Given the description of an element on the screen output the (x, y) to click on. 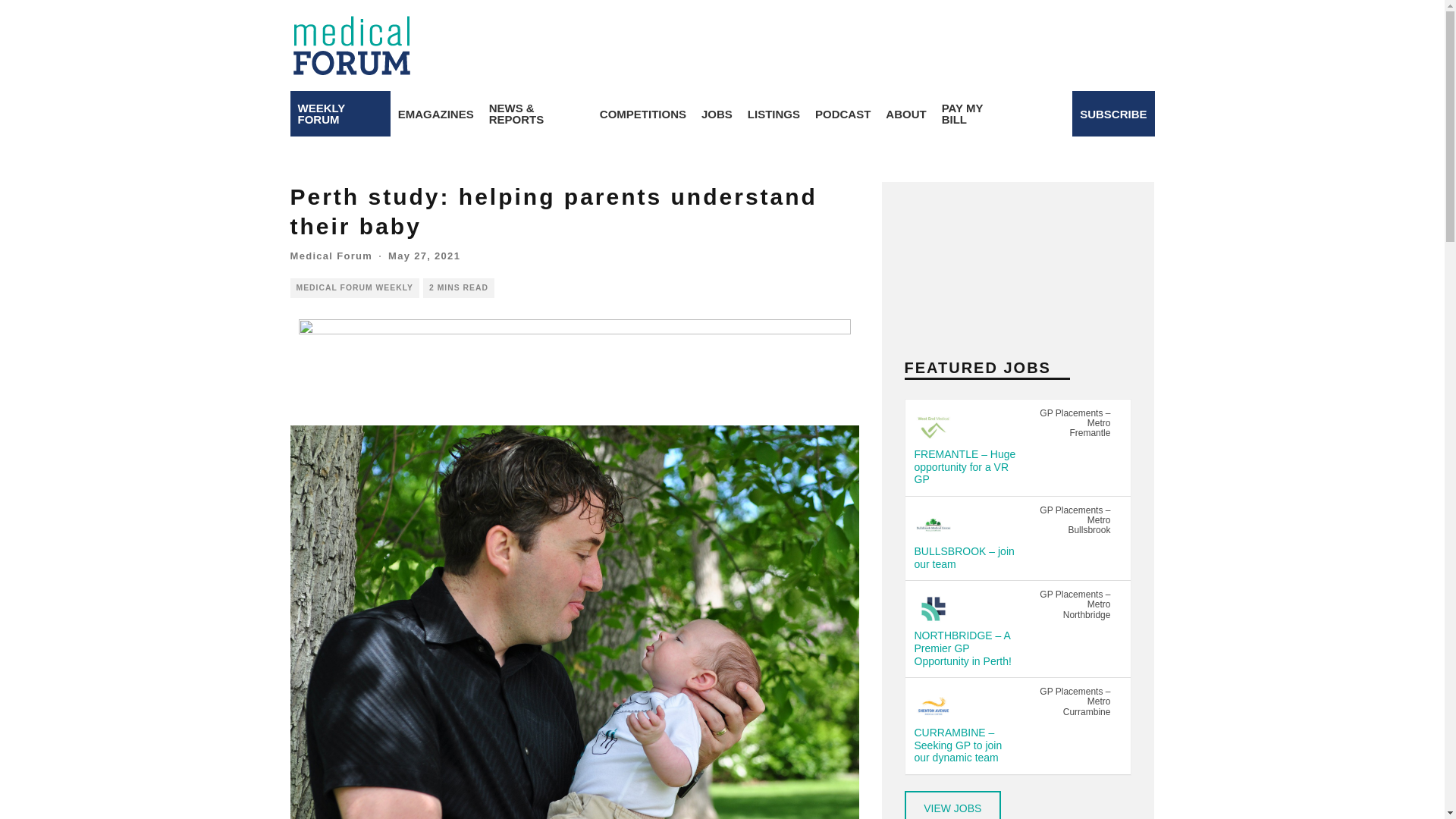
EMAGAZINES (435, 114)
Spotify Embed: Dr Paul Taylor from the Neurospine Institute (1017, 262)
WEEKLY FORUM (339, 113)
